Given the description of an element on the screen output the (x, y) to click on. 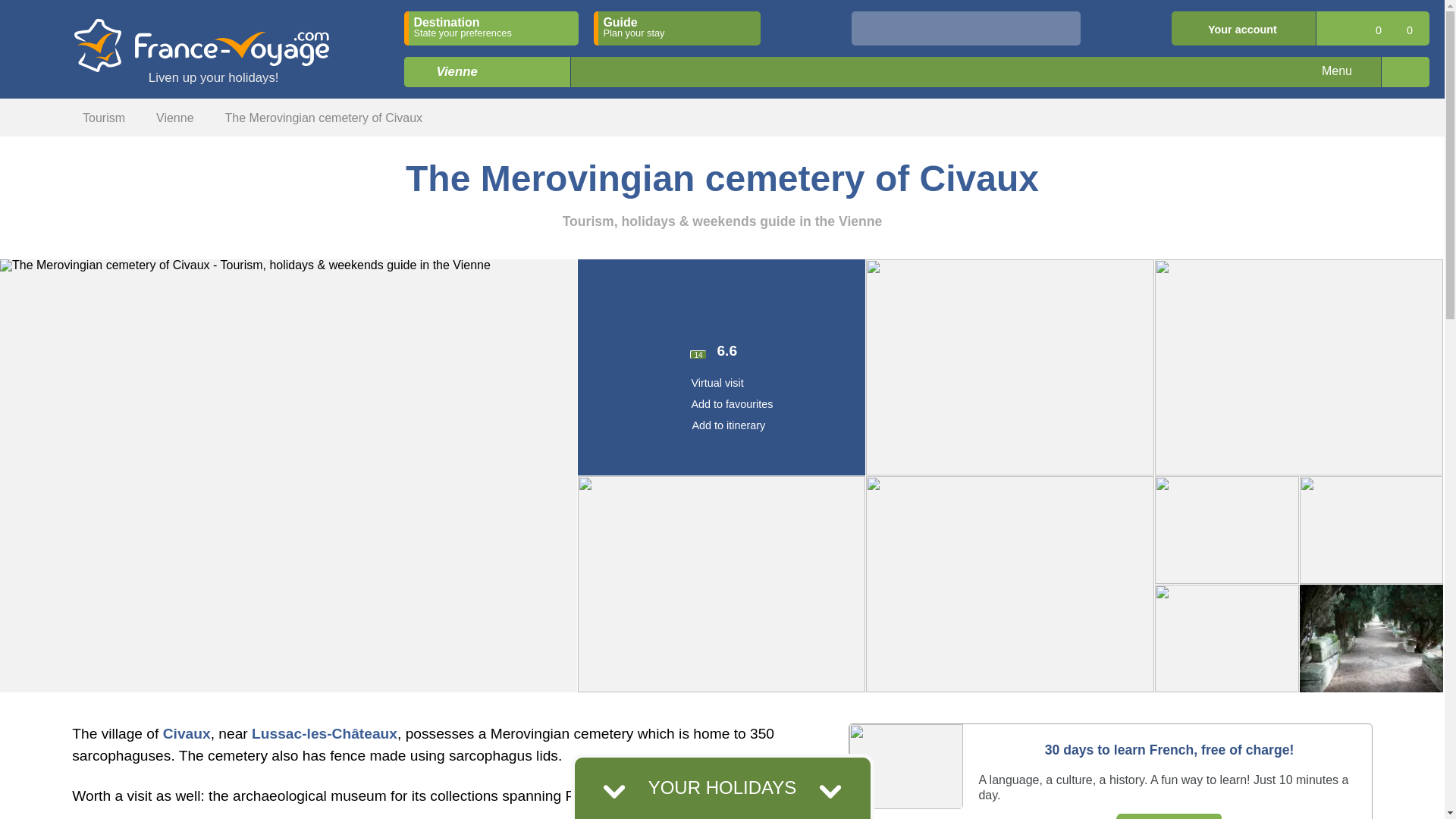
Classification: Discovery (720, 315)
Home (39, 115)
Vienne (452, 79)
Open detailed area map (1404, 71)
